Given the description of an element on the screen output the (x, y) to click on. 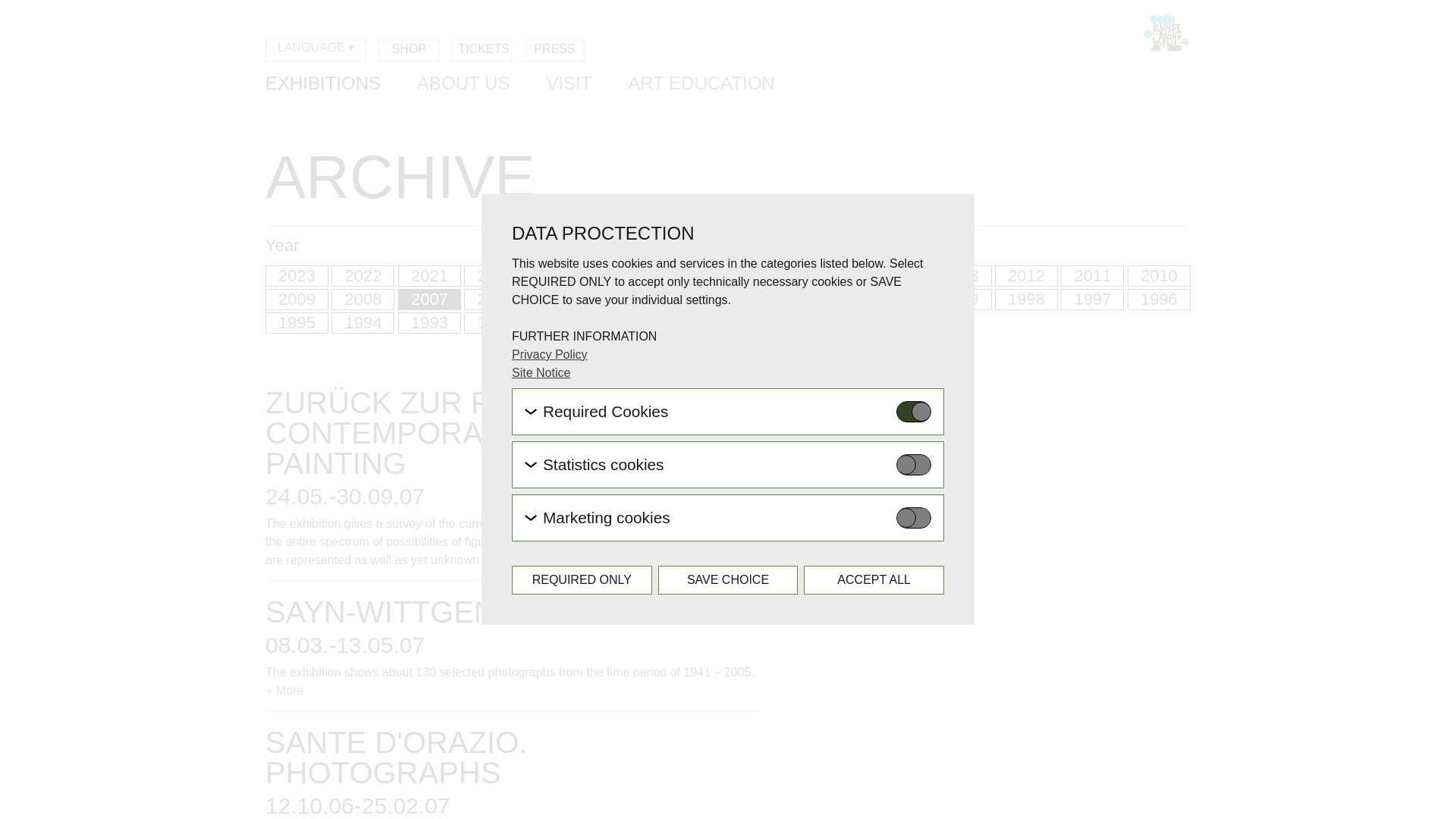
2022 (362, 275)
PRESS (554, 50)
2023 (296, 275)
2021 (429, 275)
SHOP (408, 50)
ABOUT US (462, 84)
ART EDUCATION (700, 84)
2020 (495, 275)
TICKETS (481, 50)
VISIT (568, 84)
EXHIBITIONS (322, 84)
